Given the description of an element on the screen output the (x, y) to click on. 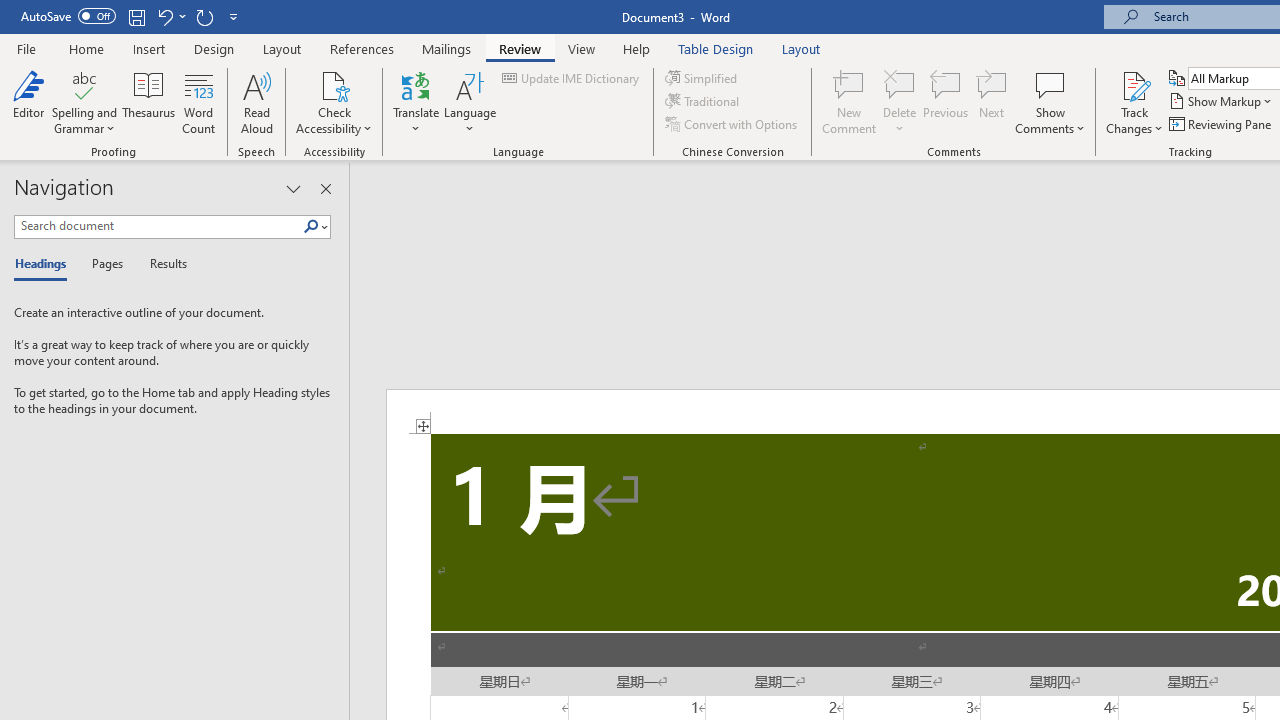
Track Changes (1134, 84)
Delete (900, 84)
Convert with Options... (732, 124)
New Comment (849, 102)
Check Accessibility (334, 102)
Previous (946, 102)
Reviewing Pane (1221, 124)
